Given the description of an element on the screen output the (x, y) to click on. 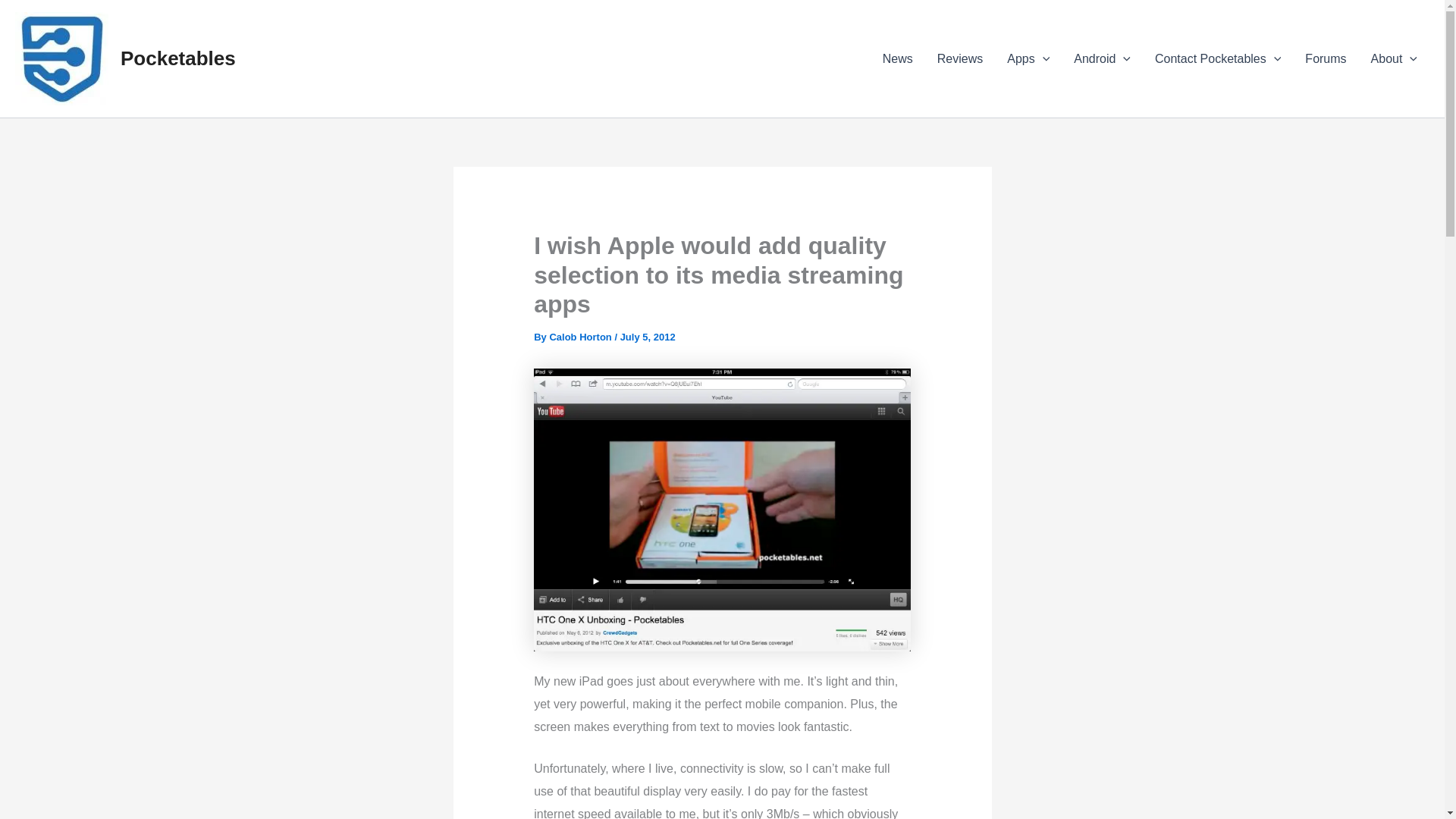
Pocketables (177, 57)
Forums (1325, 58)
Apps (1027, 58)
Android (1101, 58)
News (897, 58)
Reviews (959, 58)
About (1393, 58)
Contact Pocketables (1217, 58)
View all posts by Calob Horton (579, 337)
